Given the description of an element on the screen output the (x, y) to click on. 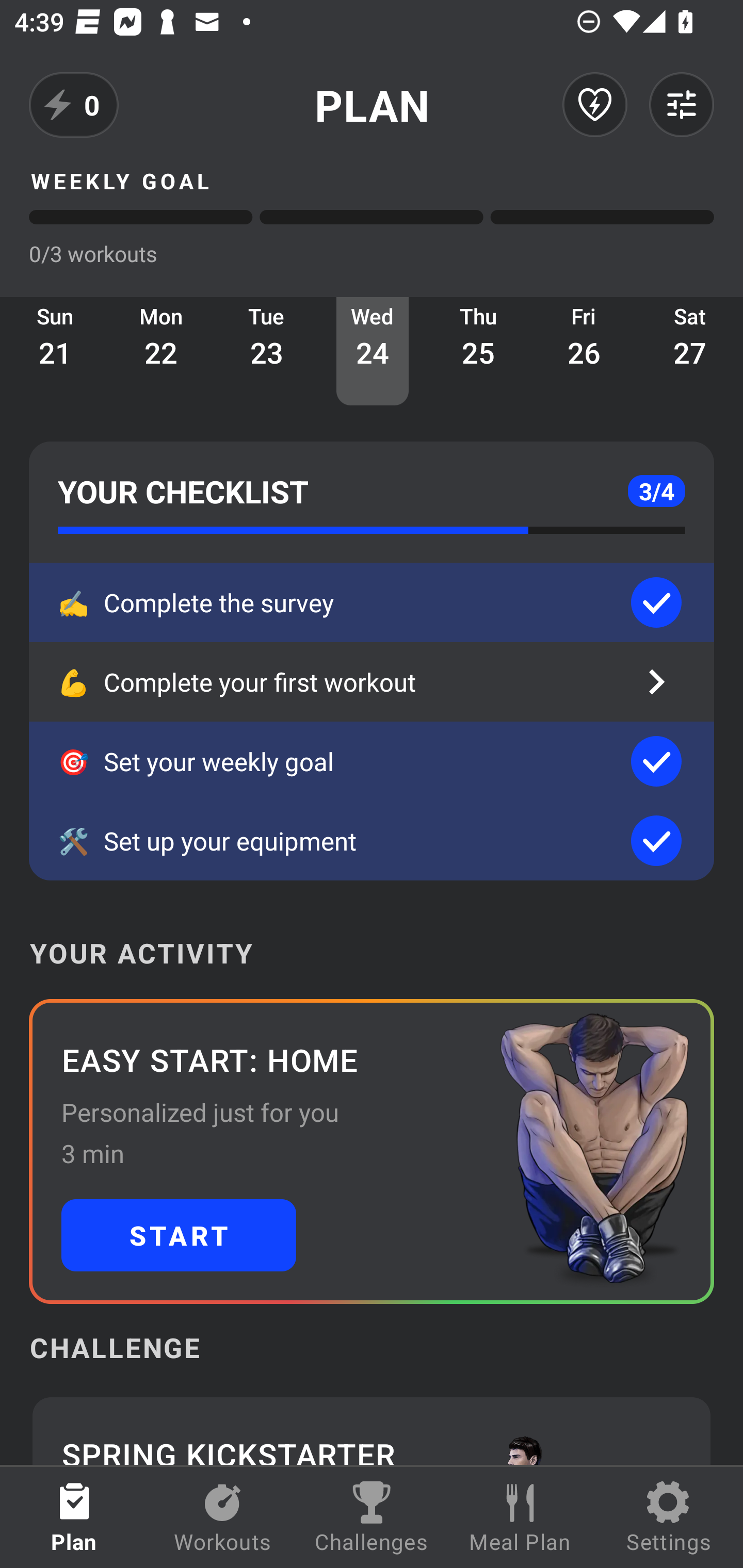
0 (73, 104)
Sun 21 (55, 351)
Mon 22 (160, 351)
Tue 23 (266, 351)
Wed 24 (372, 351)
Thu 25 (478, 351)
Fri 26 (584, 351)
Sat 27 (690, 351)
💪 Complete your first workout (371, 681)
START (178, 1235)
 Workouts  (222, 1517)
 Challenges  (371, 1517)
 Meal Plan  (519, 1517)
 Settings  (668, 1517)
